Given the description of an element on the screen output the (x, y) to click on. 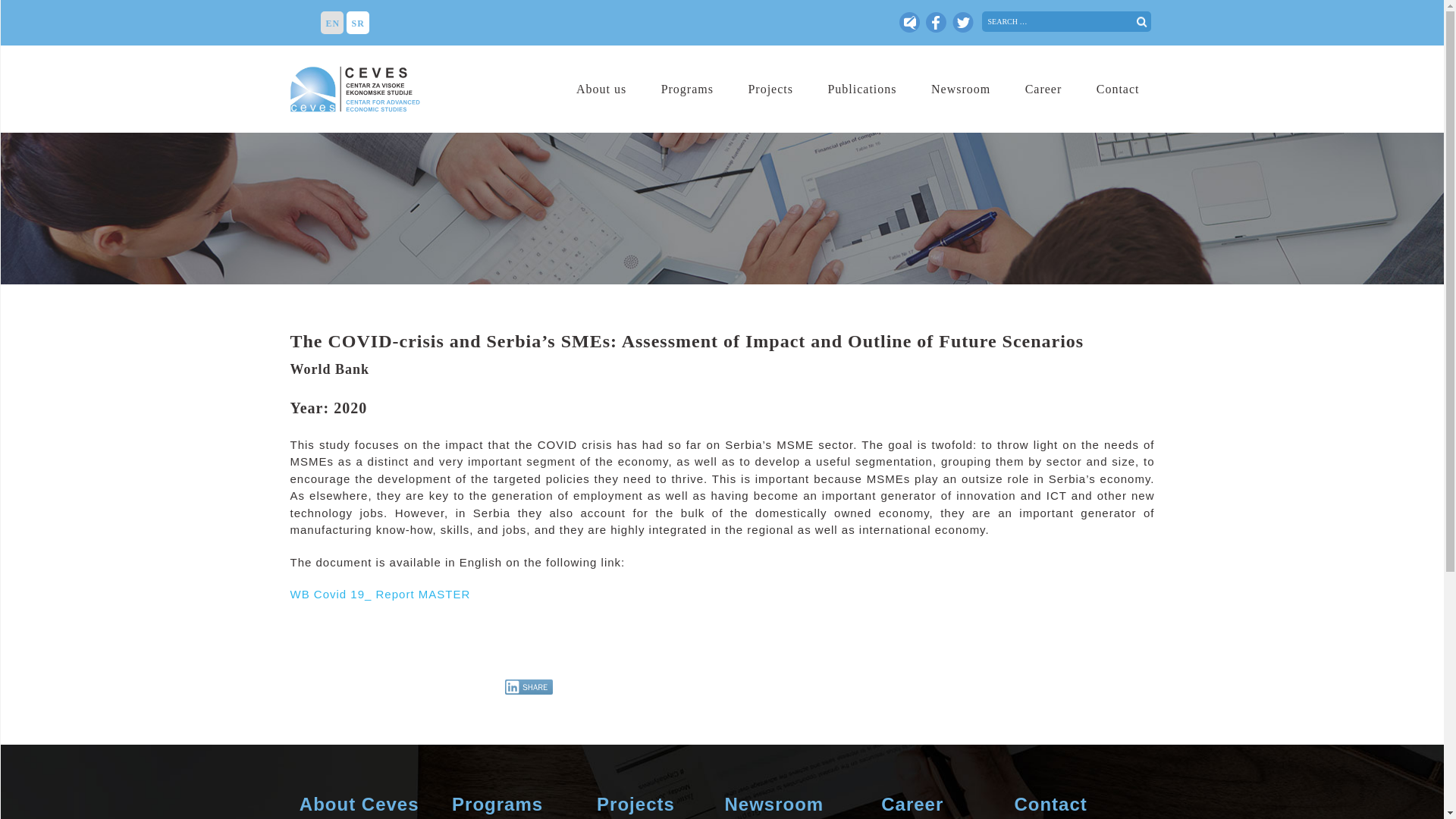
fb (935, 22)
Contact (1117, 88)
EN (331, 22)
About us (601, 88)
Newsroom (960, 88)
SHARE (529, 686)
Publications (861, 88)
Blog (909, 22)
Twitter (962, 22)
tw (909, 22)
Search (31, 8)
Career (1043, 88)
About Ceves (359, 803)
SR (357, 22)
